Given the description of an element on the screen output the (x, y) to click on. 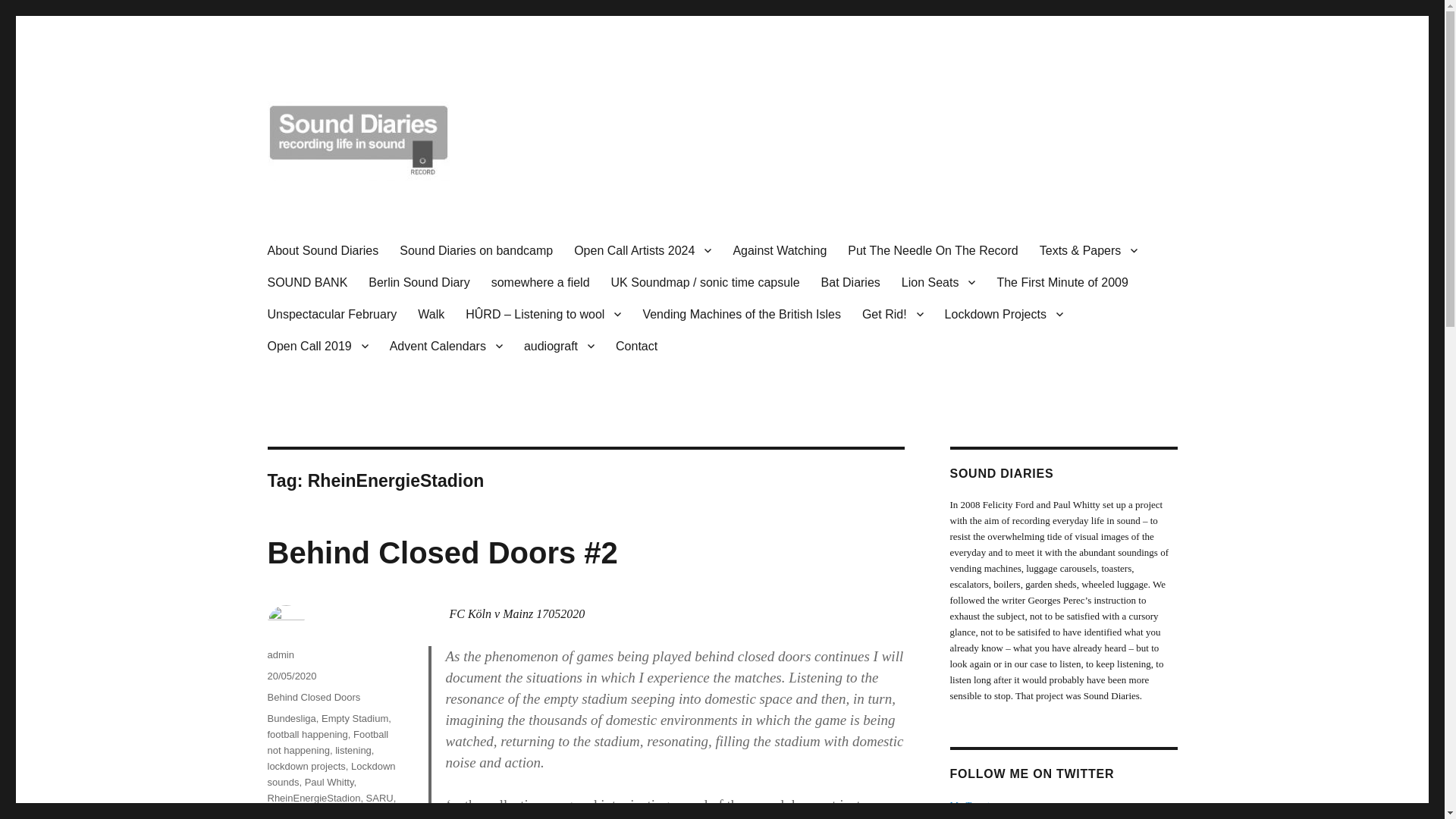
SOUND BANK (307, 282)
Against Watching (779, 250)
About Sound Diaries (322, 250)
Sound Diaries on bandcamp (475, 250)
Put The Needle On The Record (932, 250)
Lion Seats (939, 282)
somewhere a field (539, 282)
Berlin Sound Diary (419, 282)
Bat Diaries (850, 282)
Open Call Artists 2024 (642, 250)
